Given the description of an element on the screen output the (x, y) to click on. 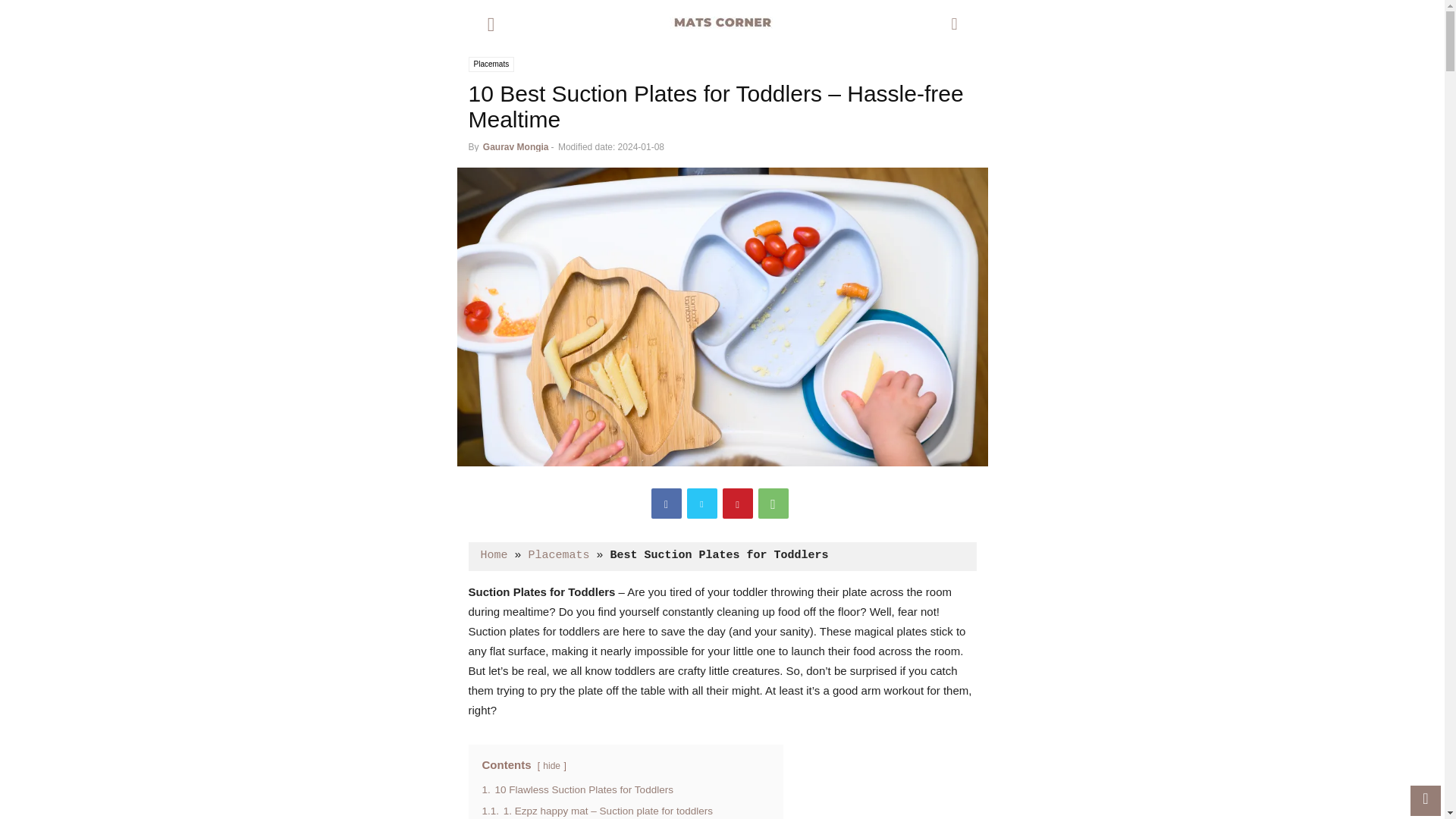
WhatsApp (773, 503)
Placemats (558, 554)
Twitter (702, 503)
Placemats (491, 64)
hide (551, 765)
Gaurav Mongia (515, 146)
Facebook (665, 503)
1. 10 Flawless Suction Plates for Toddlers (576, 789)
Pinterest (737, 503)
Home (494, 554)
